Given the description of an element on the screen output the (x, y) to click on. 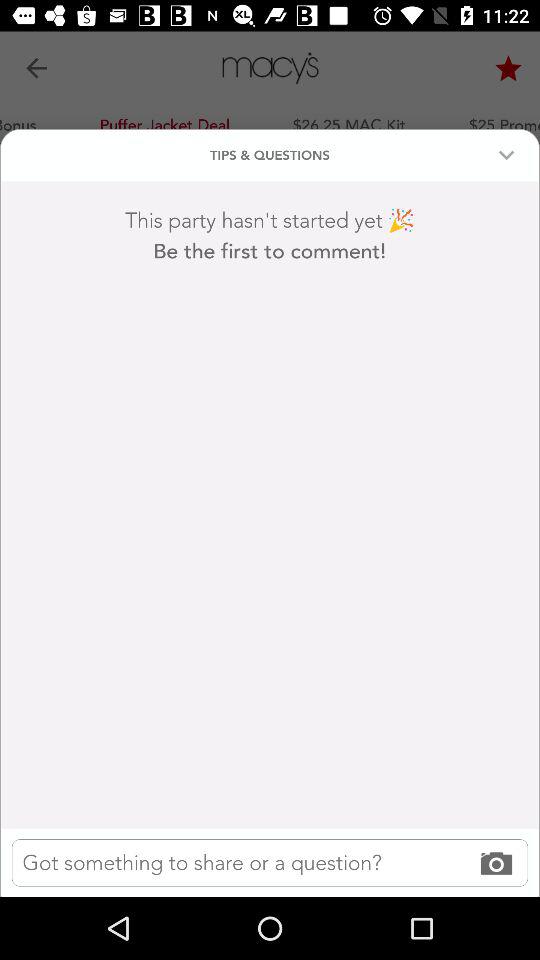
comment text entry field (270, 862)
